Given the description of an element on the screen output the (x, y) to click on. 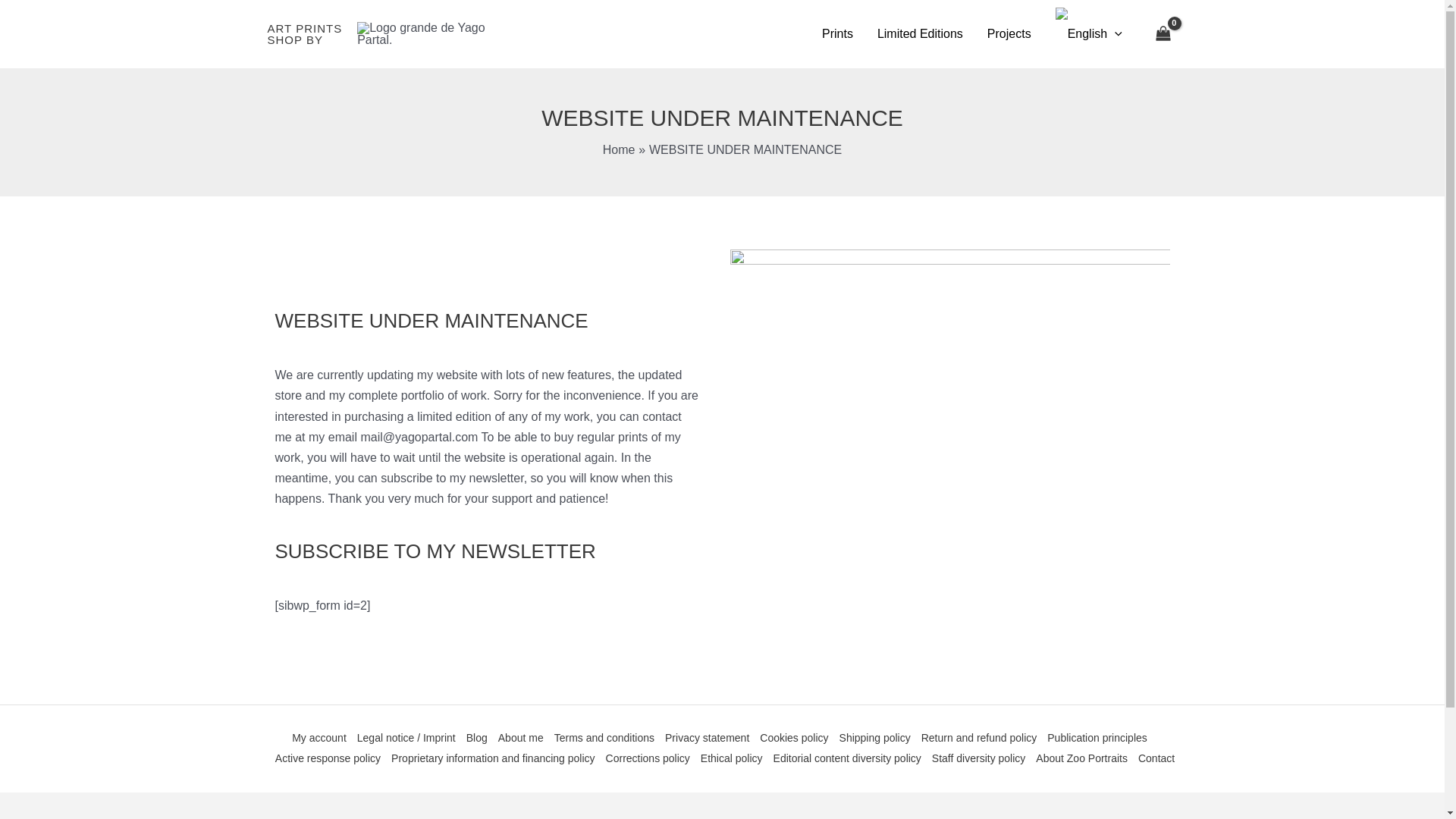
Prints (836, 33)
Terms and conditions (603, 738)
Contact (1153, 758)
Blog (477, 738)
About Zoo Portraits (1081, 758)
Projects (1009, 33)
Staff diversity policy (978, 758)
My account (322, 738)
Editorial content diversity policy (847, 758)
